Given the description of an element on the screen output the (x, y) to click on. 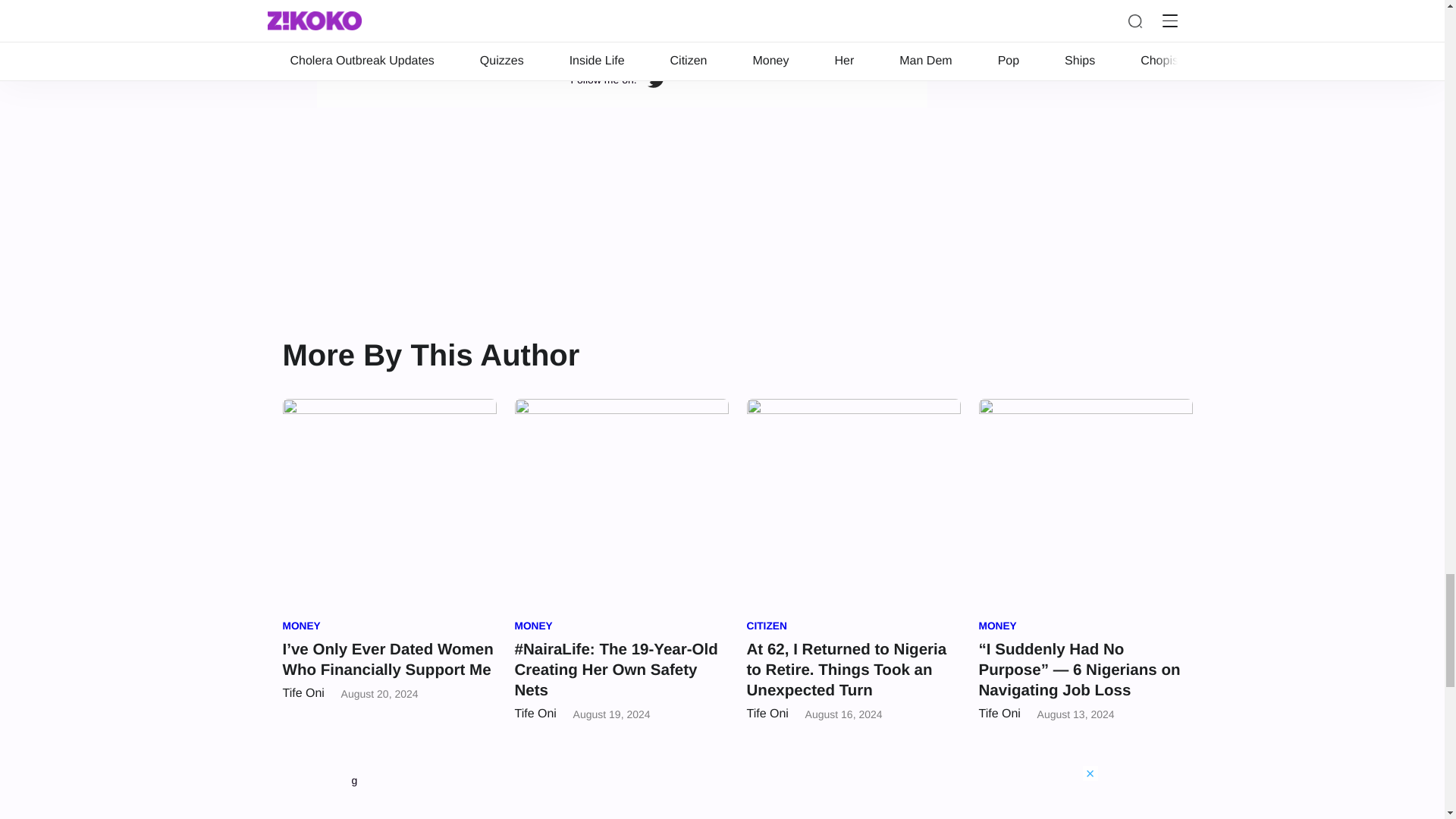
Posts by Tife Oni (999, 713)
Posts by Tife Oni (302, 693)
Posts by Tife Oni (766, 713)
Posts by Tife Oni (534, 713)
